Given the description of an element on the screen output the (x, y) to click on. 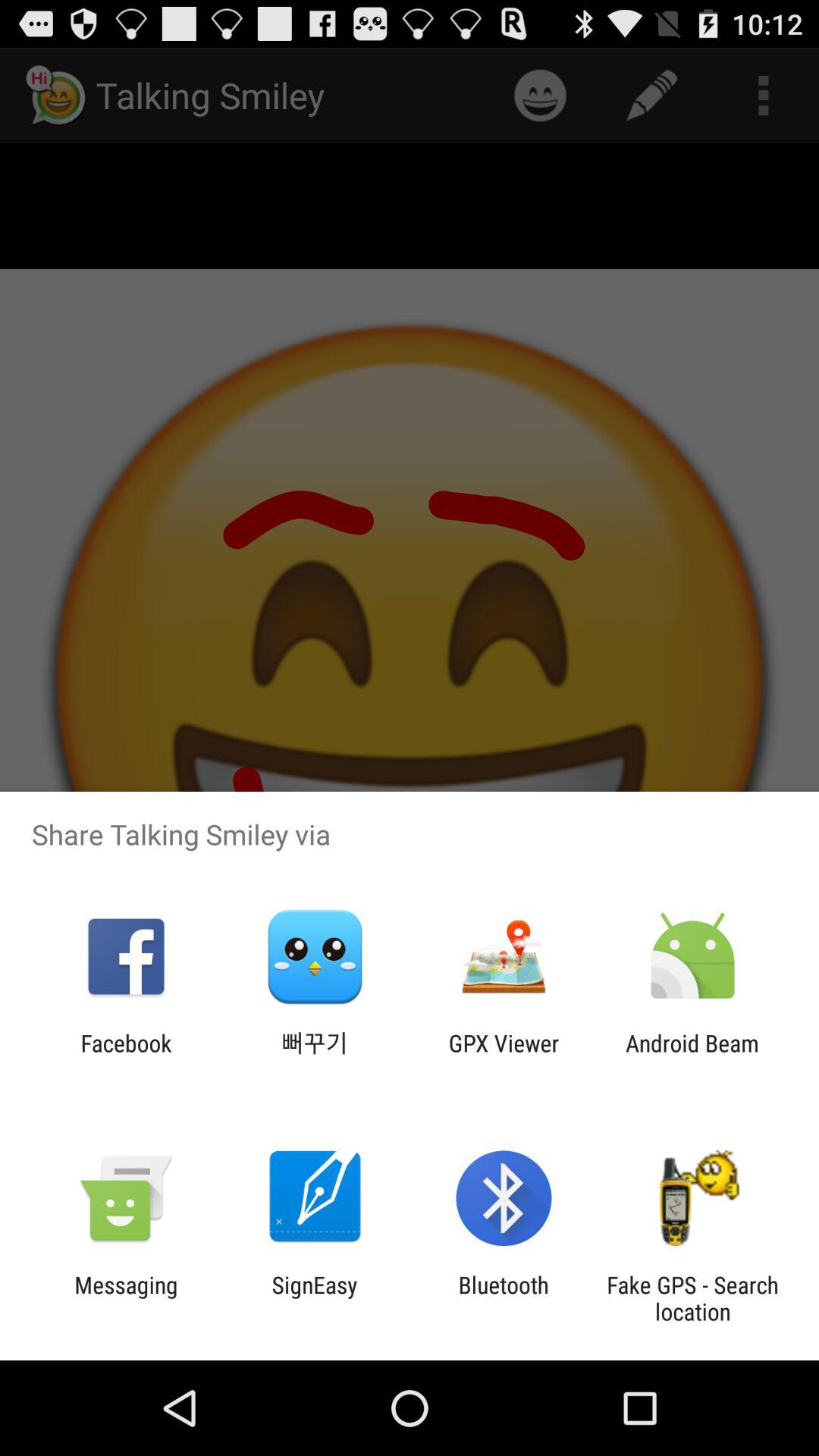
open the app next to the android beam app (503, 1056)
